Given the description of an element on the screen output the (x, y) to click on. 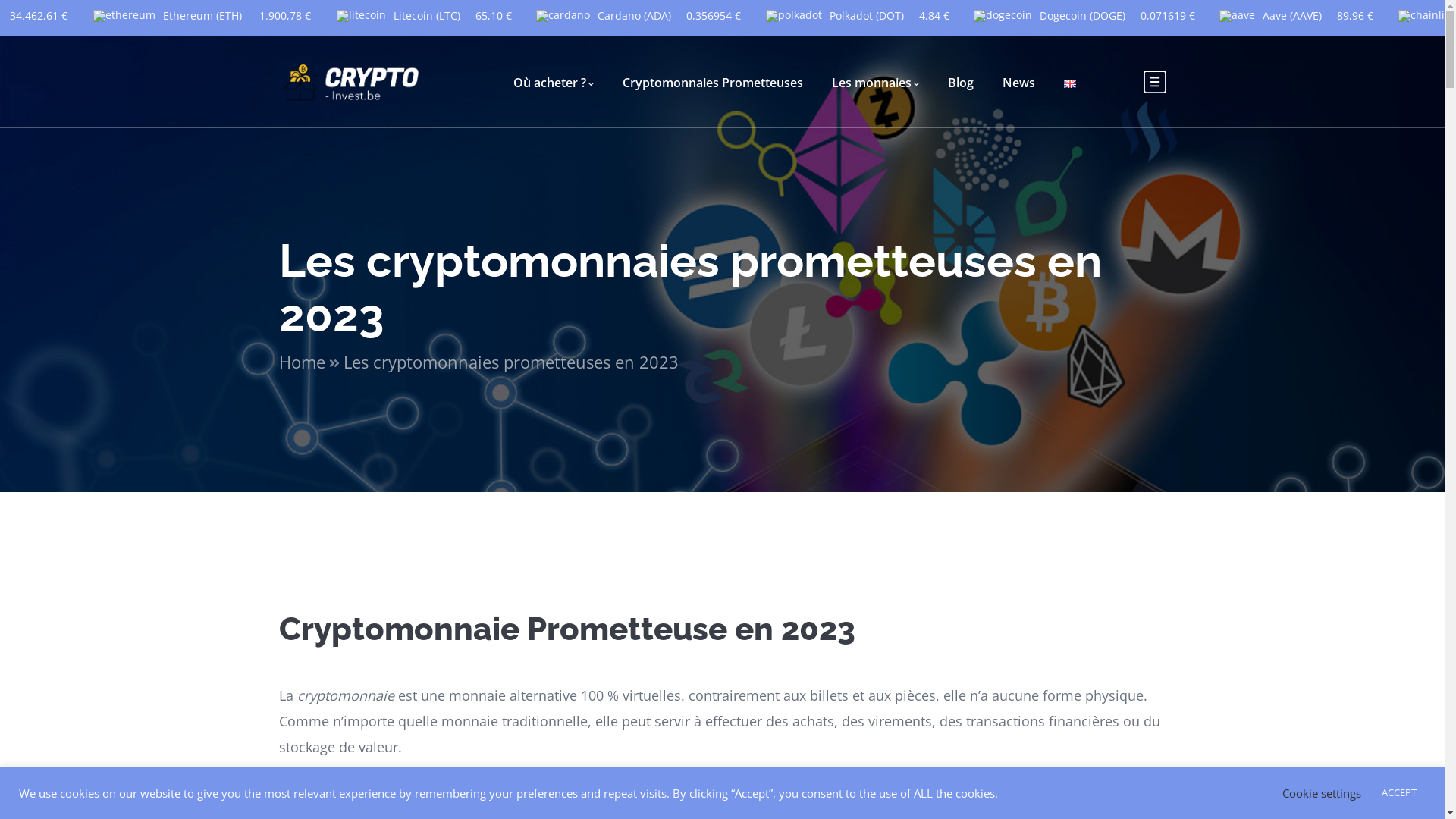
Cookie settings Element type: text (1321, 792)
News Element type: text (1018, 82)
Home Element type: text (311, 362)
Blog Element type: text (960, 82)
ACCEPT Element type: text (1398, 792)
Les monnaies Element type: text (874, 82)
Crypto Element type: hover (352, 80)
Cryptomonnaies Prometteuses Element type: text (711, 82)
